Given the description of an element on the screen output the (x, y) to click on. 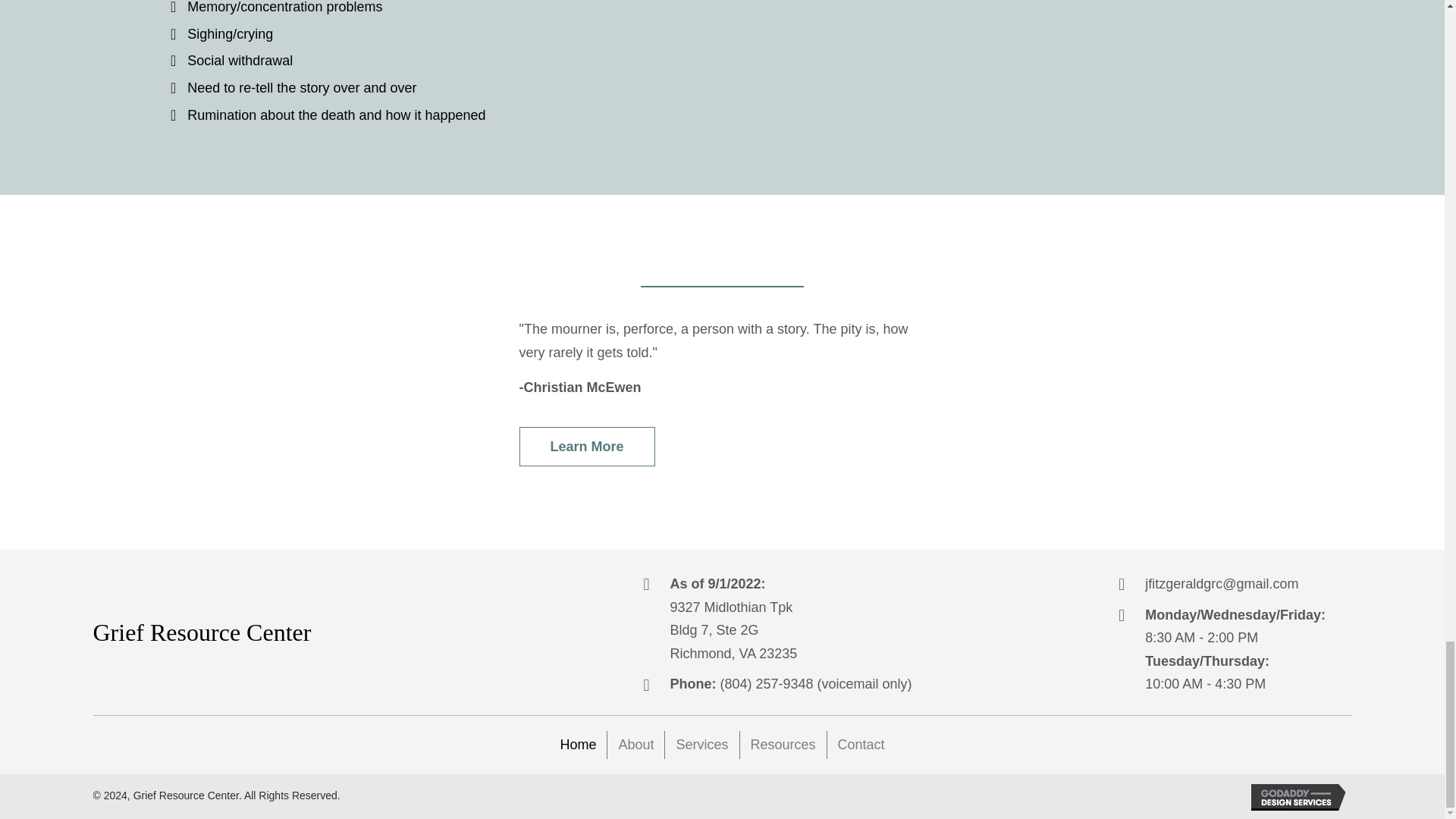
Resources (783, 745)
About (635, 745)
Services (701, 745)
Home (577, 745)
Contact (861, 745)
Grief Resource Center (202, 632)
Learn More (585, 446)
